Given the description of an element on the screen output the (x, y) to click on. 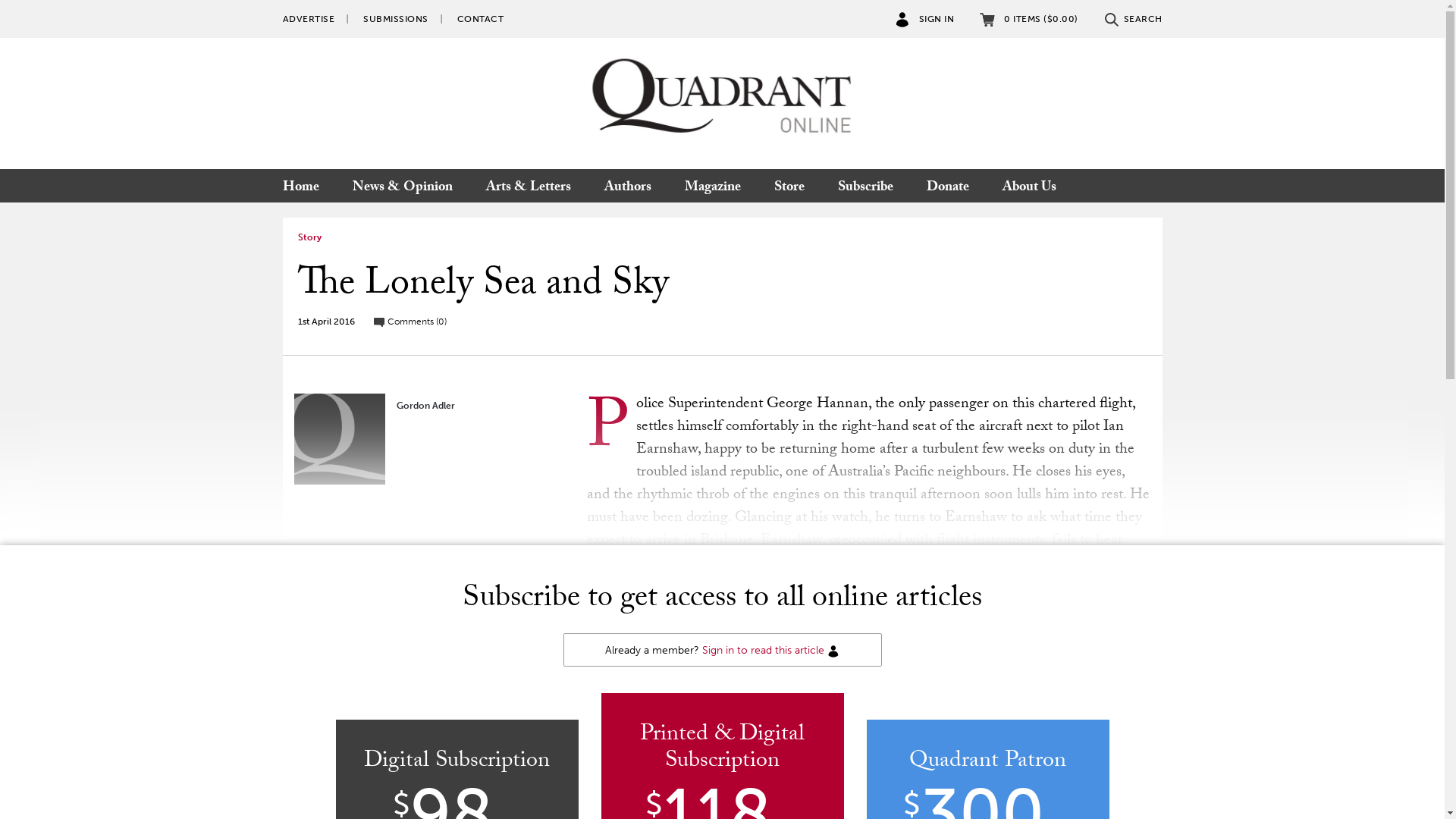
Subscribe Element type: text (864, 185)
SIGN IN Element type: text (924, 18)
CONTACT Element type: text (479, 18)
Donate Element type: text (947, 185)
Sign in to read this article Element type: text (763, 649)
SUBMISSIONS Element type: text (395, 18)
1st April 2016 Element type: text (325, 321)
Magazine Element type: text (711, 185)
0 ITEMS ($0.00) Element type: text (1028, 18)
ADVERTISE Element type: text (308, 18)
SEARCH Element type: text (1133, 18)
Store Element type: text (788, 185)
About Us Element type: text (1029, 185)
Comments (0) Element type: text (409, 321)
Home Element type: text (307, 185)
Arts & Letters Element type: text (527, 185)
Authors Element type: text (626, 185)
News & Opinion Element type: text (401, 185)
